Given the description of an element on the screen output the (x, y) to click on. 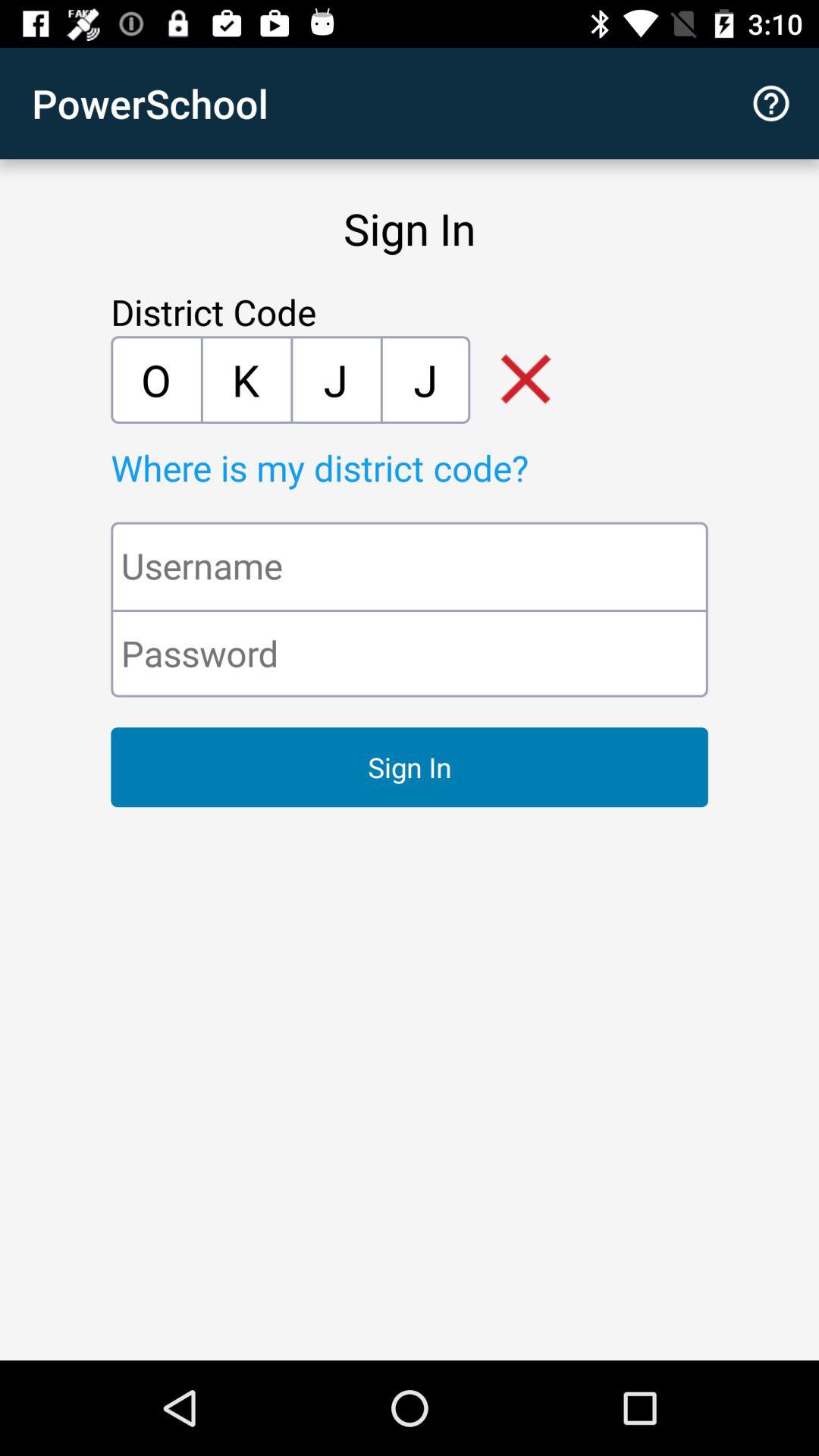
press the icon above the where is my (155, 379)
